Given the description of an element on the screen output the (x, y) to click on. 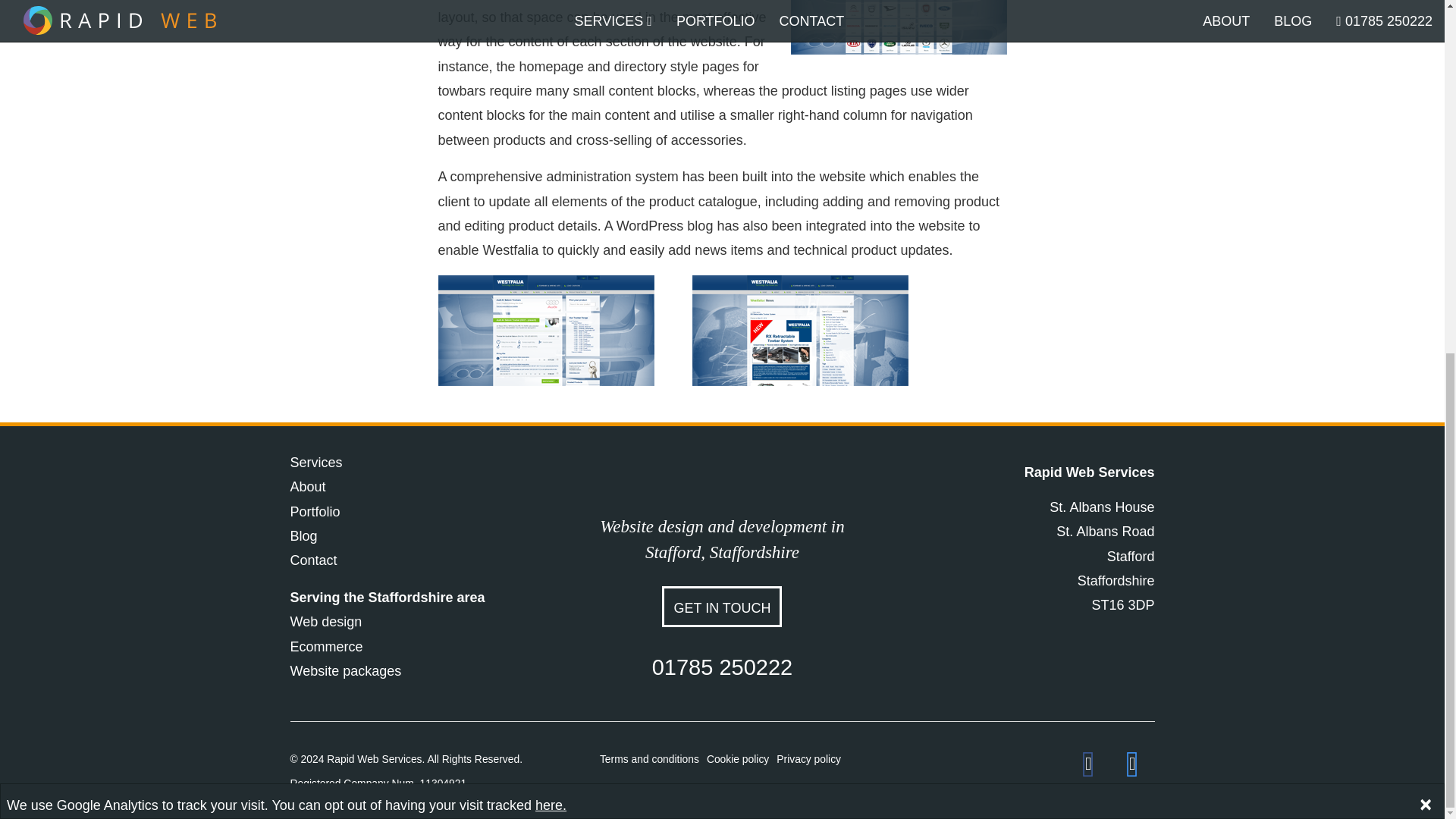
Terms and conditions (648, 758)
westfalia-product-page (545, 330)
Web design (325, 621)
GET IN TOUCH (721, 606)
westfalia-towbars (898, 27)
Website packages (345, 670)
Privacy policy (808, 758)
Blog (303, 535)
Ecommerce (325, 646)
Portfolio (314, 511)
